Given the description of an element on the screen output the (x, y) to click on. 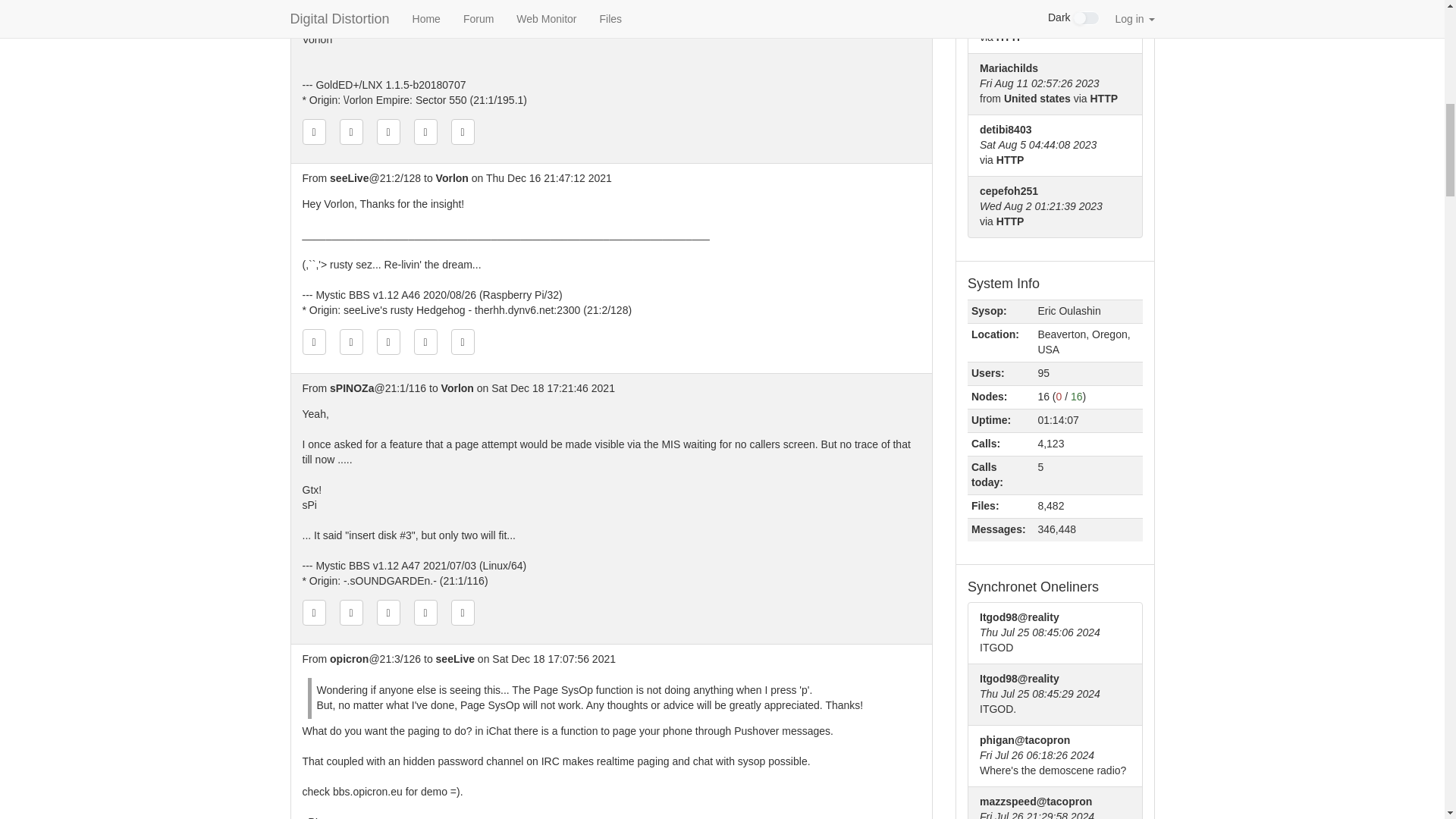
Jump to previous message (350, 131)
Jump to next message (425, 131)
Jump to oldest message (312, 612)
Jump to previous message (350, 612)
Jump to next message (425, 341)
Jump to oldest message (312, 131)
Jump to newest message (462, 131)
Jump to newest message (462, 341)
Jump to previous message (350, 341)
Direct link to this message (388, 131)
Direct link to this message (388, 341)
Jump to oldest message (312, 341)
